Given the description of an element on the screen output the (x, y) to click on. 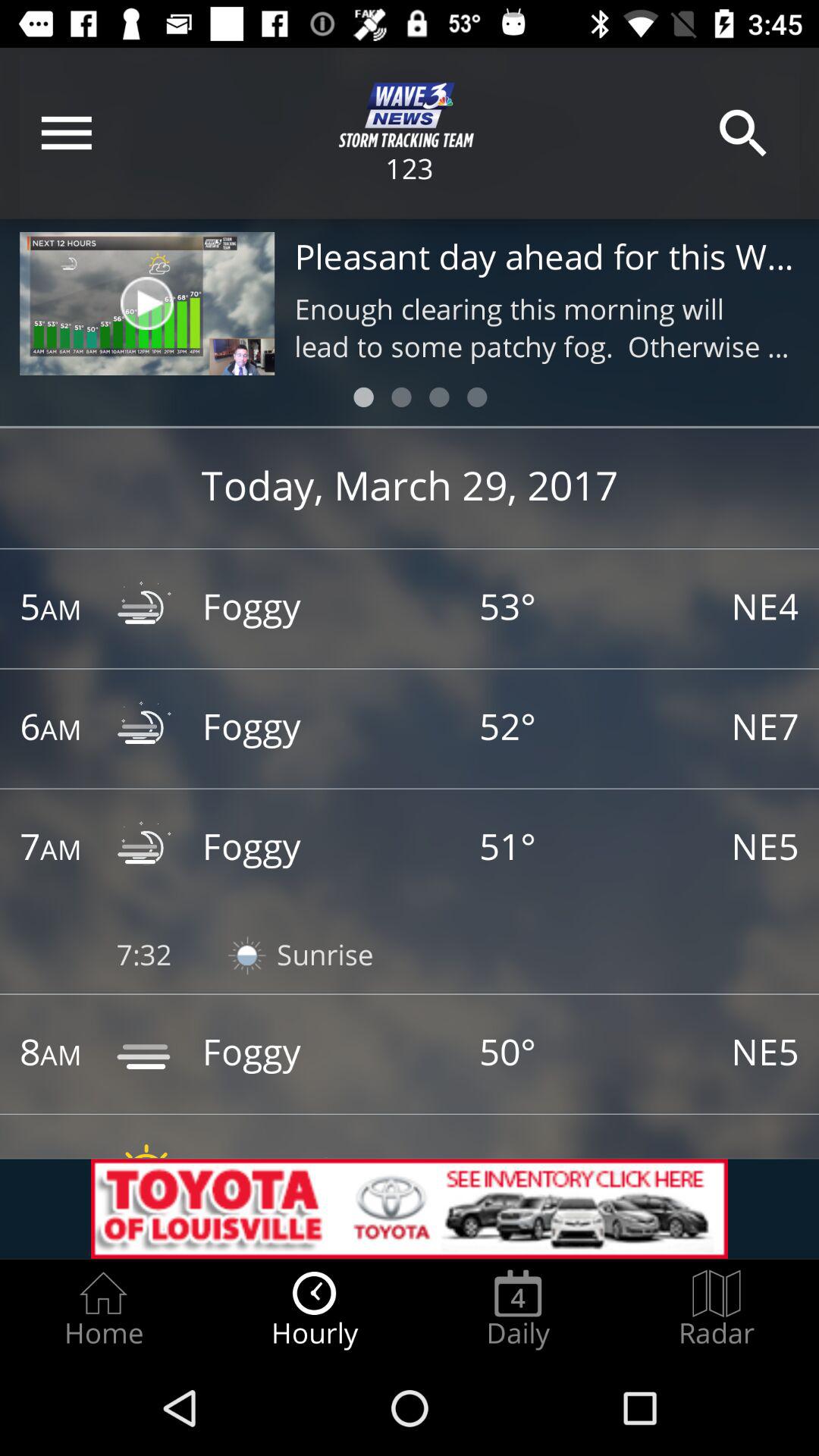
choose the radar radio button (716, 1309)
